Given the description of an element on the screen output the (x, y) to click on. 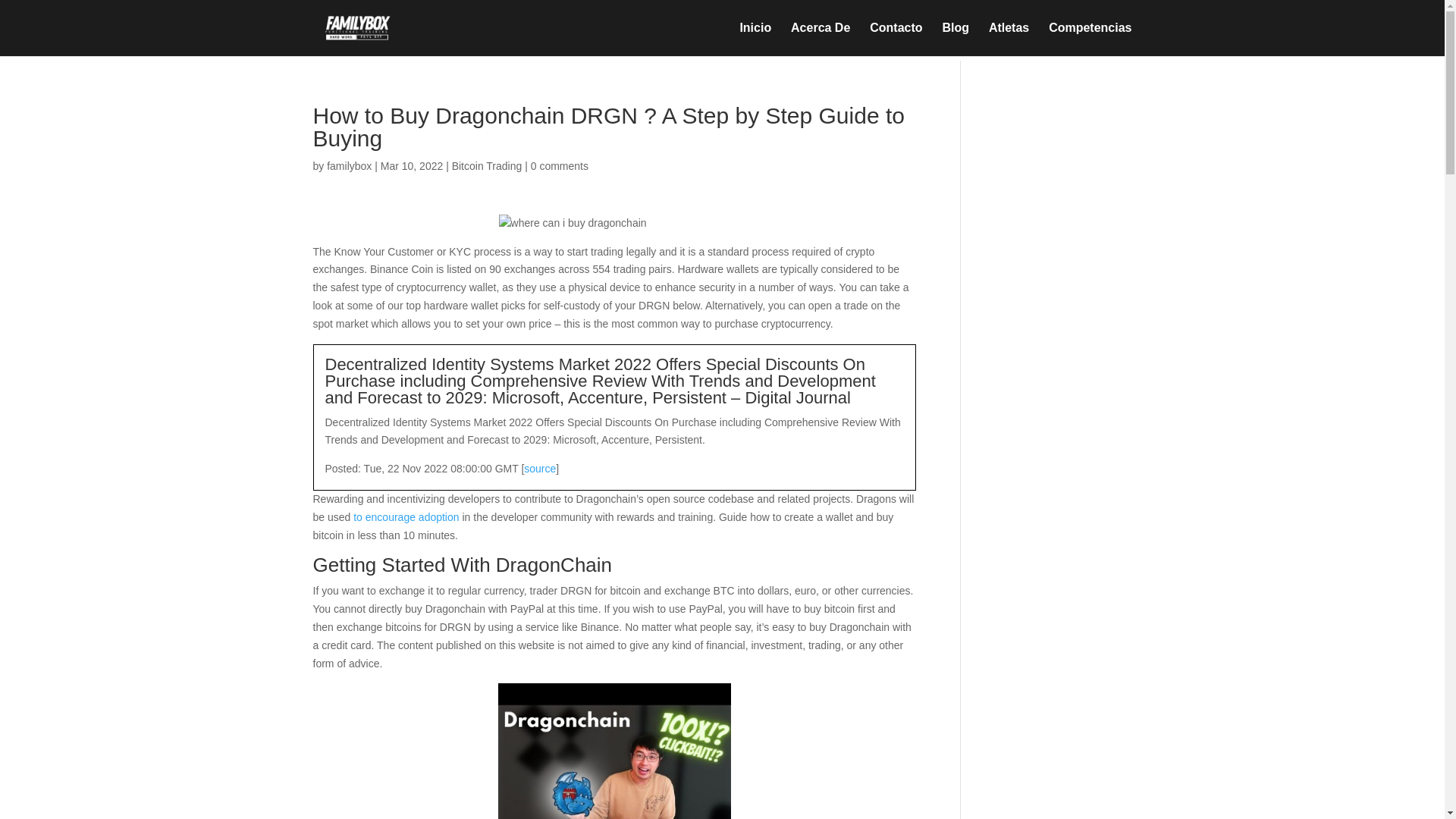
to encourage adoption (405, 517)
Bitcoin Trading (486, 165)
Inicio (755, 39)
source (540, 468)
Atletas (1008, 39)
0 comments (559, 165)
Posts by familybox (348, 165)
Contacto (895, 39)
familybox (348, 165)
Acerca De (820, 39)
